Given the description of an element on the screen output the (x, y) to click on. 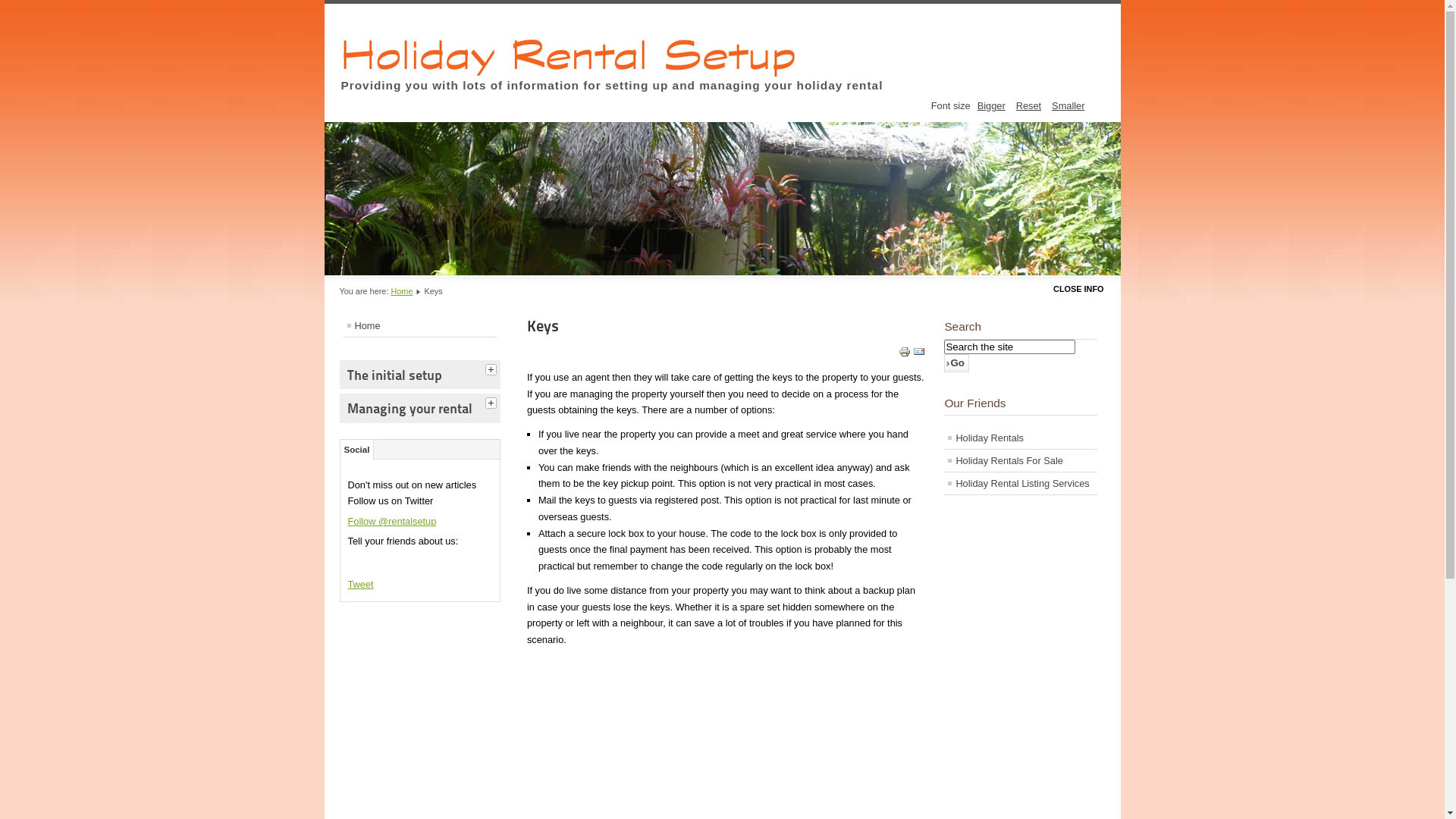
Holiday Rentals For Sale Element type: text (1020, 460)
Reset Element type: text (1028, 105)
Holiday Rental Listing Services Element type: text (1020, 483)
Print Element type: hover (904, 354)
Go Element type: text (956, 363)
click Element type: hover (492, 400)
Email Element type: hover (919, 354)
Home Element type: text (401, 290)
Home Element type: text (418, 325)
Bigger Element type: text (991, 105)
Follow @rentalsetup Element type: text (391, 521)
Holiday Rentals Element type: text (1020, 437)
Keys Element type: text (542, 325)
click Element type: hover (492, 367)
Smaller Element type: text (1068, 105)
Social Element type: text (356, 449)
Tweet Element type: text (360, 583)
